Given the description of an element on the screen output the (x, y) to click on. 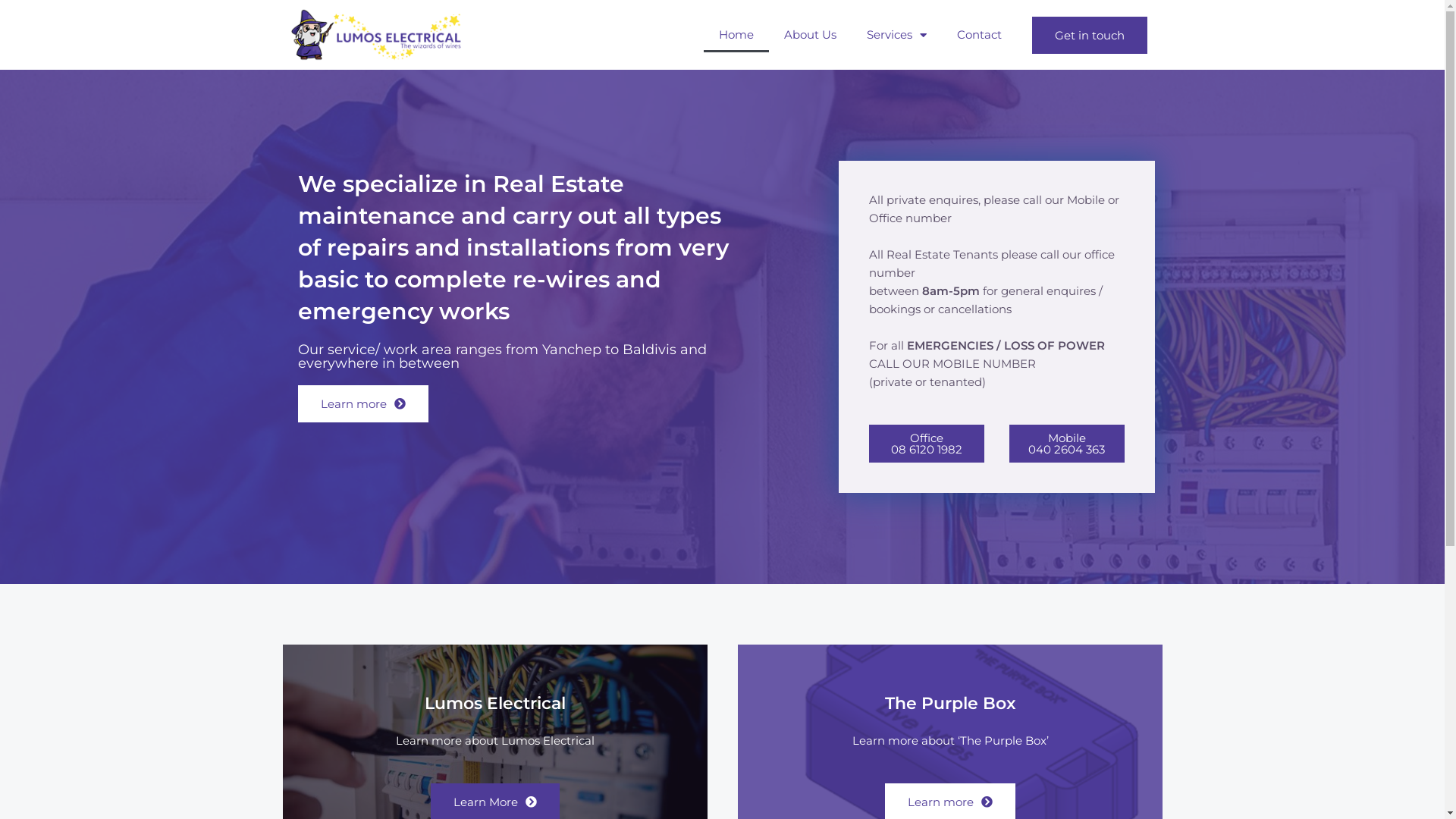
Mobile
040 2604 363 Element type: text (1066, 443)
About Us Element type: text (809, 34)
Services Element type: text (895, 34)
Office
08 6120 1982 Element type: text (926, 443)
Contact Element type: text (978, 34)
Learn more Element type: text (362, 403)
Get in touch Element type: text (1088, 34)
Home Element type: text (735, 34)
